Given the description of an element on the screen output the (x, y) to click on. 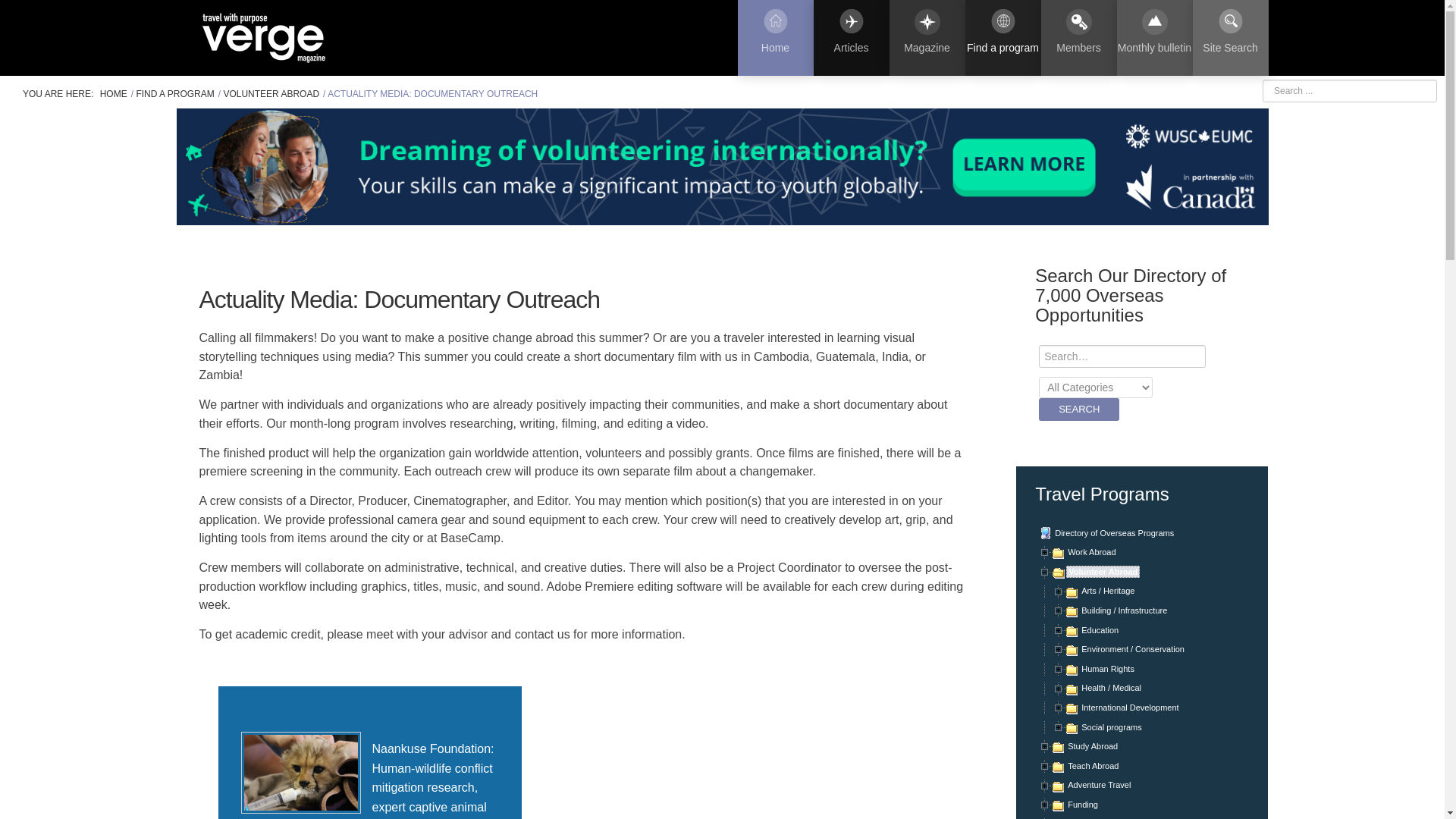
HOME (115, 93)
Site Search (1230, 38)
Monthly bulletin (1154, 38)
Articles (850, 38)
Find a program (1002, 38)
Magazine (925, 38)
WUSC-2023-ad01 (722, 164)
Members (1078, 38)
FIND A PROGRAM (175, 93)
VOLUNTEER ABROAD (272, 93)
Home (774, 38)
